Given the description of an element on the screen output the (x, y) to click on. 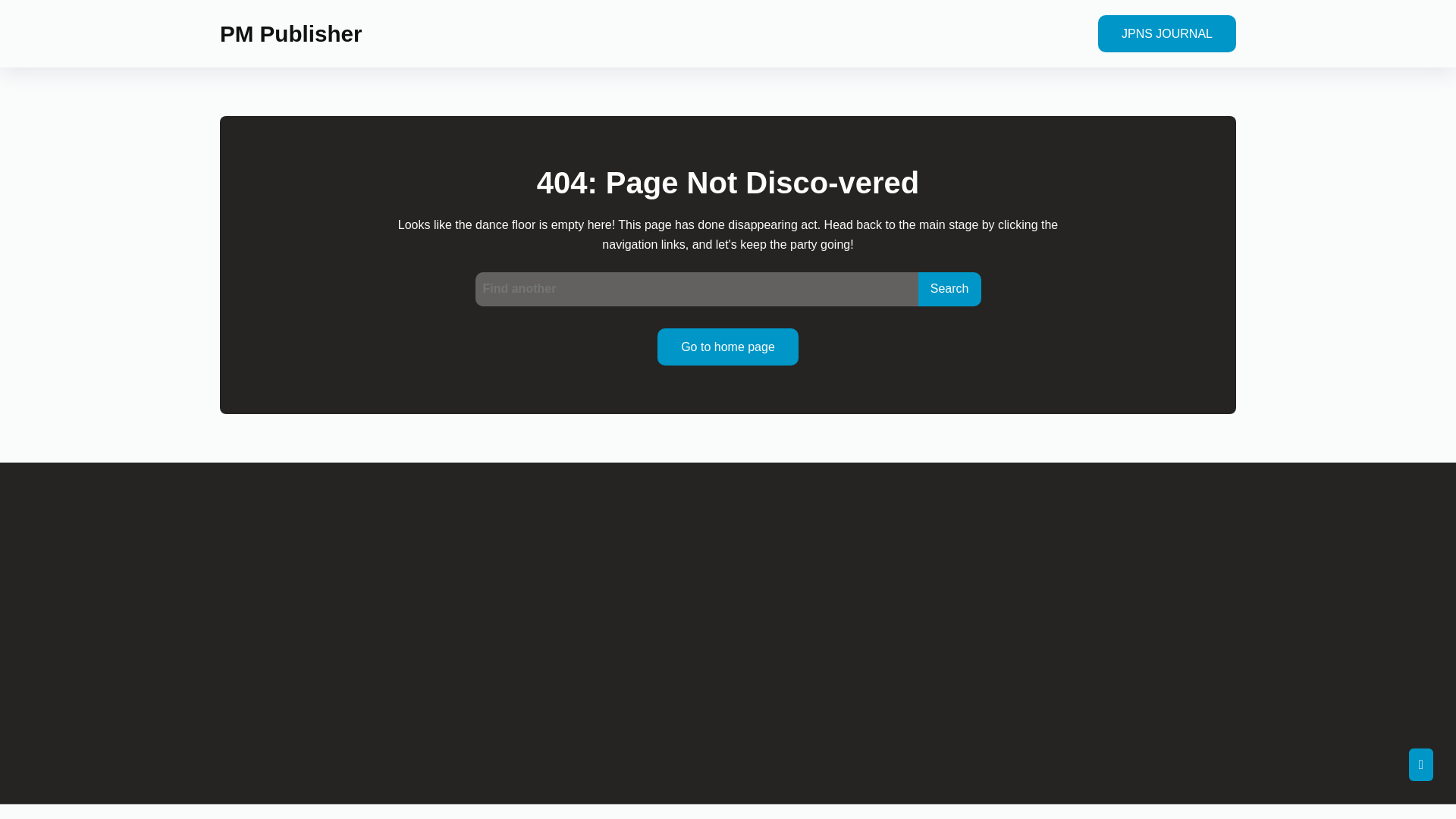
JPNS JOURNAL (1166, 33)
Search (949, 288)
Go to home page (727, 346)
PM Publisher (290, 33)
